Given the description of an element on the screen output the (x, y) to click on. 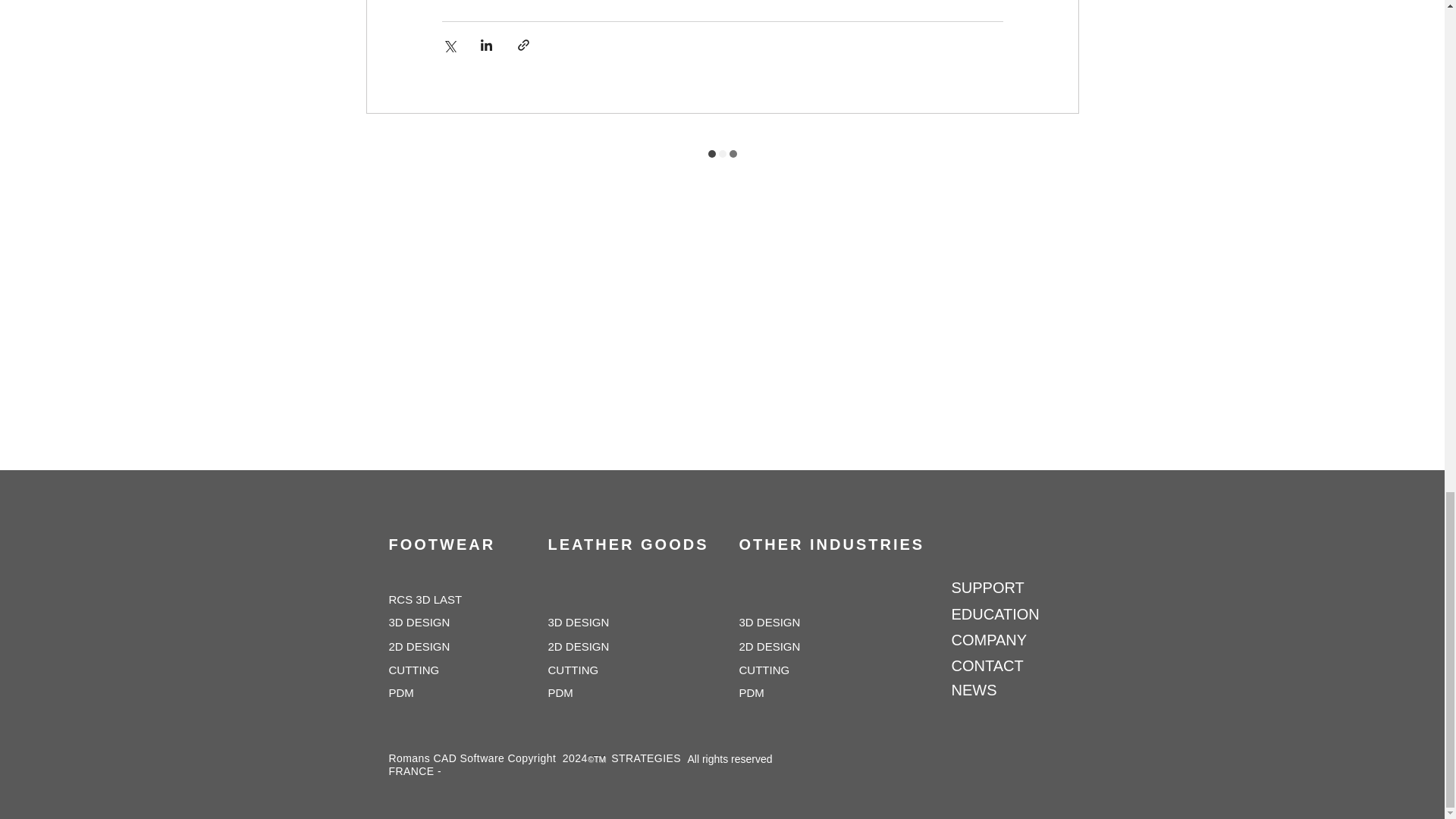
CUTTING (441, 669)
PDM (791, 692)
2D DESIGN (441, 645)
3D DESIGN (600, 621)
CUTTING (791, 669)
CUTTING (600, 669)
RCS 3D LAST (441, 598)
PDM (600, 692)
2D DESIGN (791, 645)
3D DESIGN (442, 621)
2D DESIGN (600, 645)
3D DESIGN (791, 621)
PDM (441, 692)
